Given the description of an element on the screen output the (x, y) to click on. 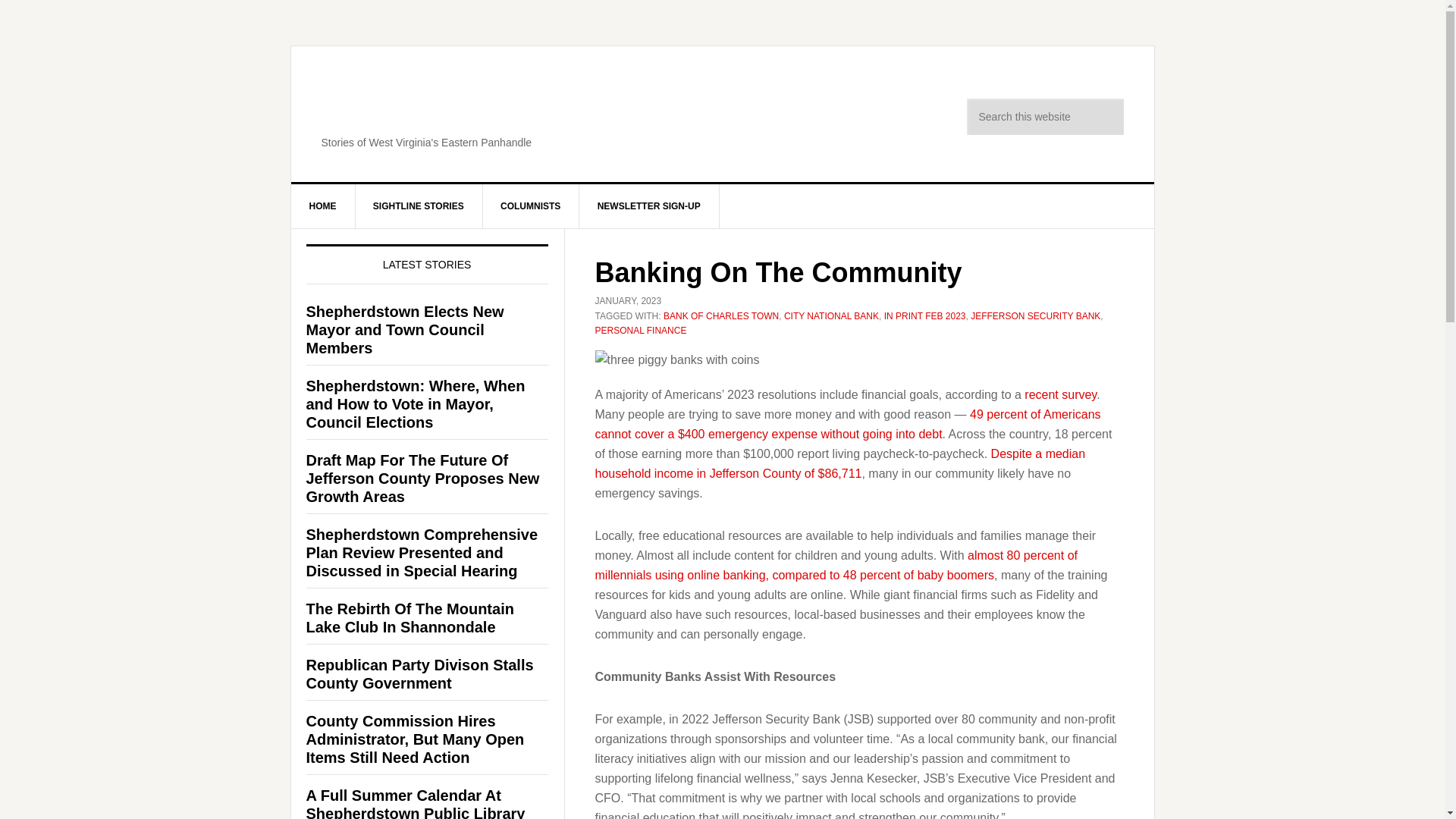
HOME (323, 206)
Republican Party Divison Stalls County Government (419, 673)
SIGHTLINE STORIES (419, 206)
Shepherdstown Elects New Mayor and Town Council Members (404, 329)
NEWSLETTER SIGN-UP (649, 206)
Republican Party Divison Stalls County Government (419, 673)
The Rebirth Of The Mountain Lake Club In Shannondale (409, 617)
A Full Summer Calendar At Shepherdstown Public Library (415, 803)
